Given the description of an element on the screen output the (x, y) to click on. 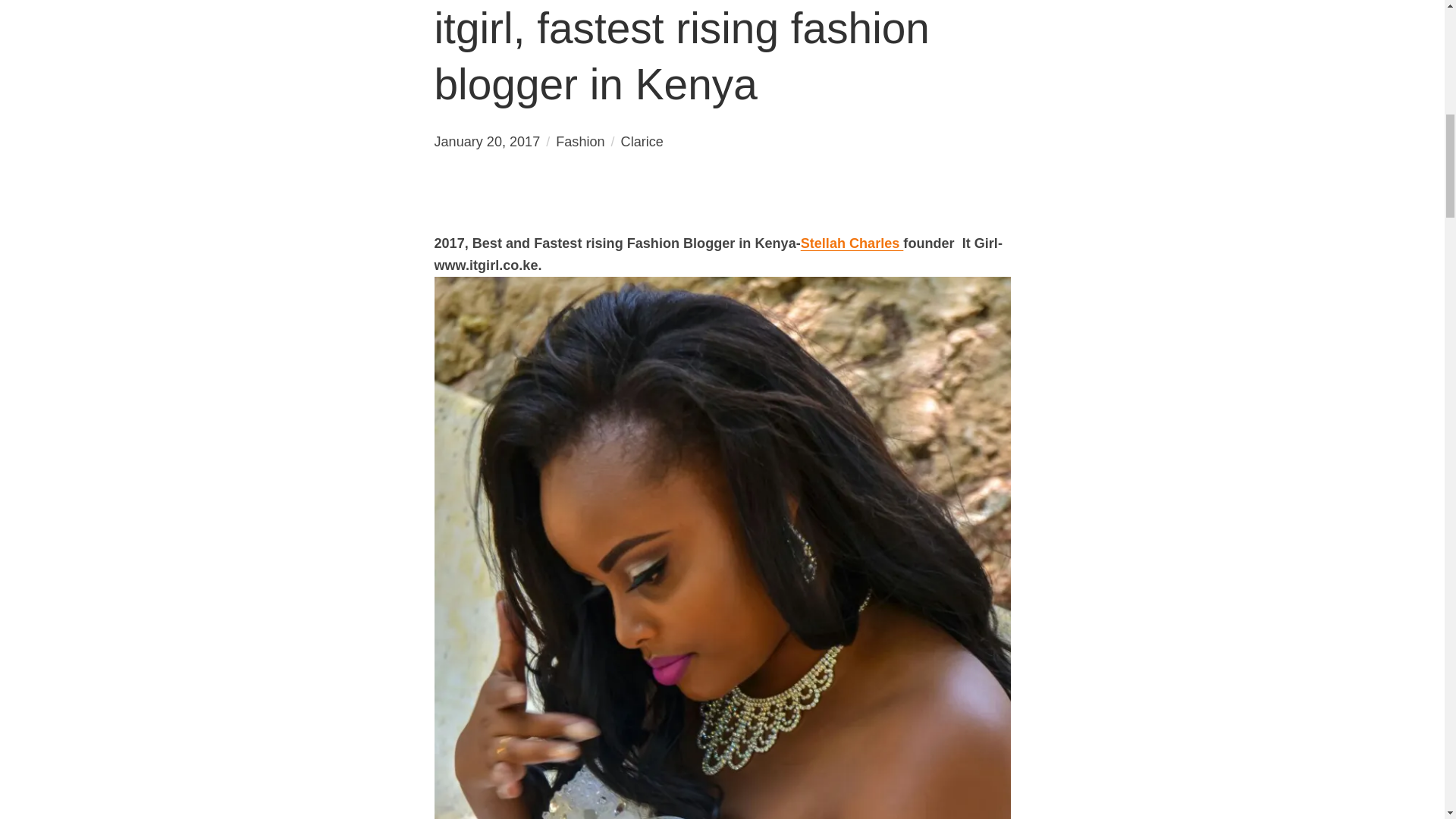
Stellah Charles (852, 242)
Fashion (580, 141)
January 20, 2017 (486, 141)
